Given the description of an element on the screen output the (x, y) to click on. 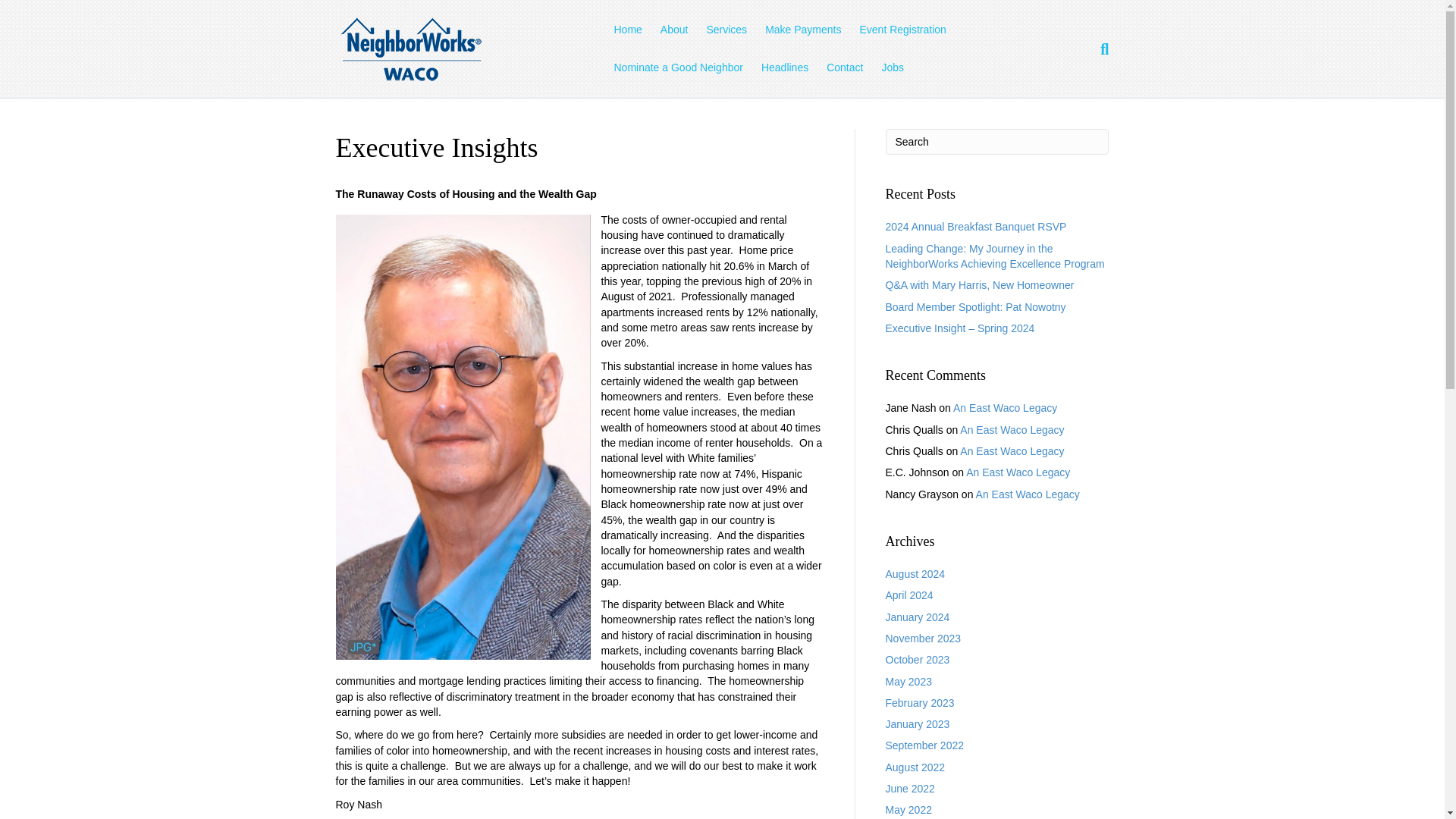
An East Waco Legacy (1018, 472)
Jobs (892, 67)
October 2023 (917, 659)
About (673, 30)
2024 Annual Breakfast Banquet RSVP (976, 226)
Home (627, 30)
Nominate a Good Neighbor (677, 67)
Headlines (784, 67)
August 2022 (914, 767)
April 2024 (909, 594)
